Given the description of an element on the screen output the (x, y) to click on. 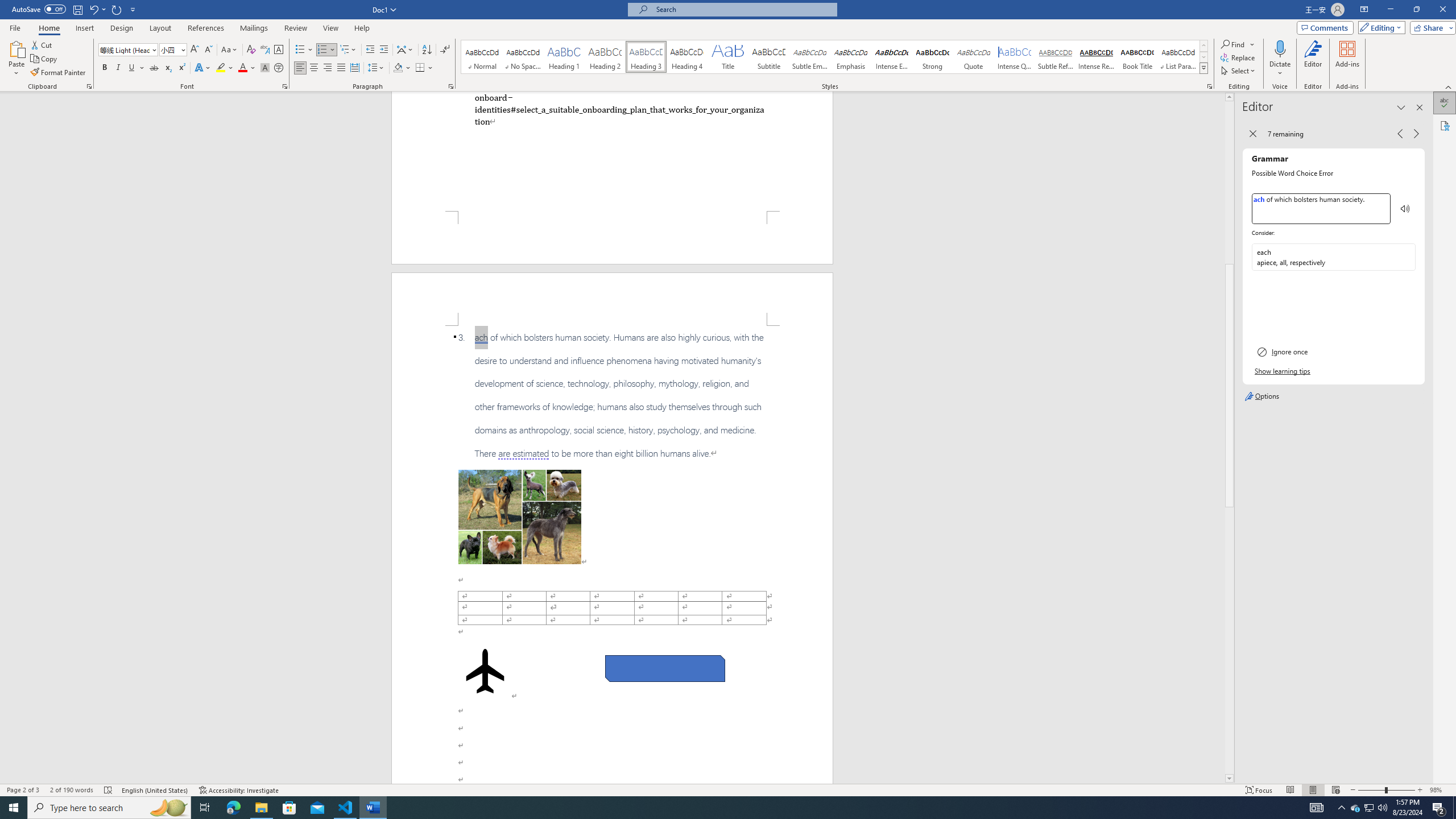
Insert (83, 28)
Quote (973, 56)
Align Right (327, 67)
Font Color (246, 67)
Close pane (1419, 107)
Zoom Out (1371, 790)
Italic (118, 67)
Intense Reference (1095, 56)
Replace... (1237, 56)
Align Left (300, 67)
Accessibility Checker Accessibility: Investigate (239, 790)
Format Painter (58, 72)
